Given the description of an element on the screen output the (x, y) to click on. 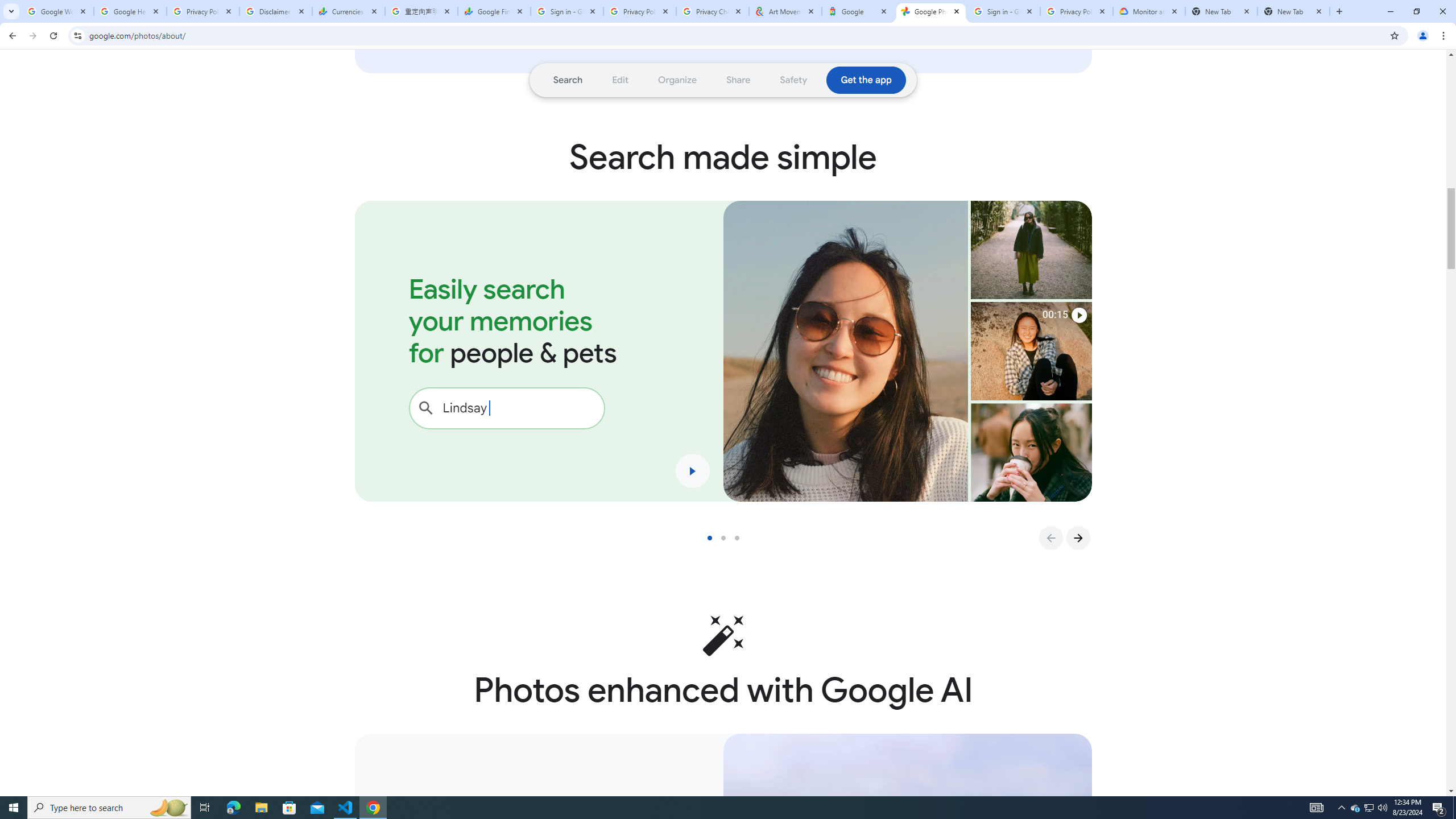
Go to section: Safety (793, 80)
Play (692, 470)
Go to section: Search (567, 80)
Privacy Checkup (712, 11)
Google (857, 11)
